Given the description of an element on the screen output the (x, y) to click on. 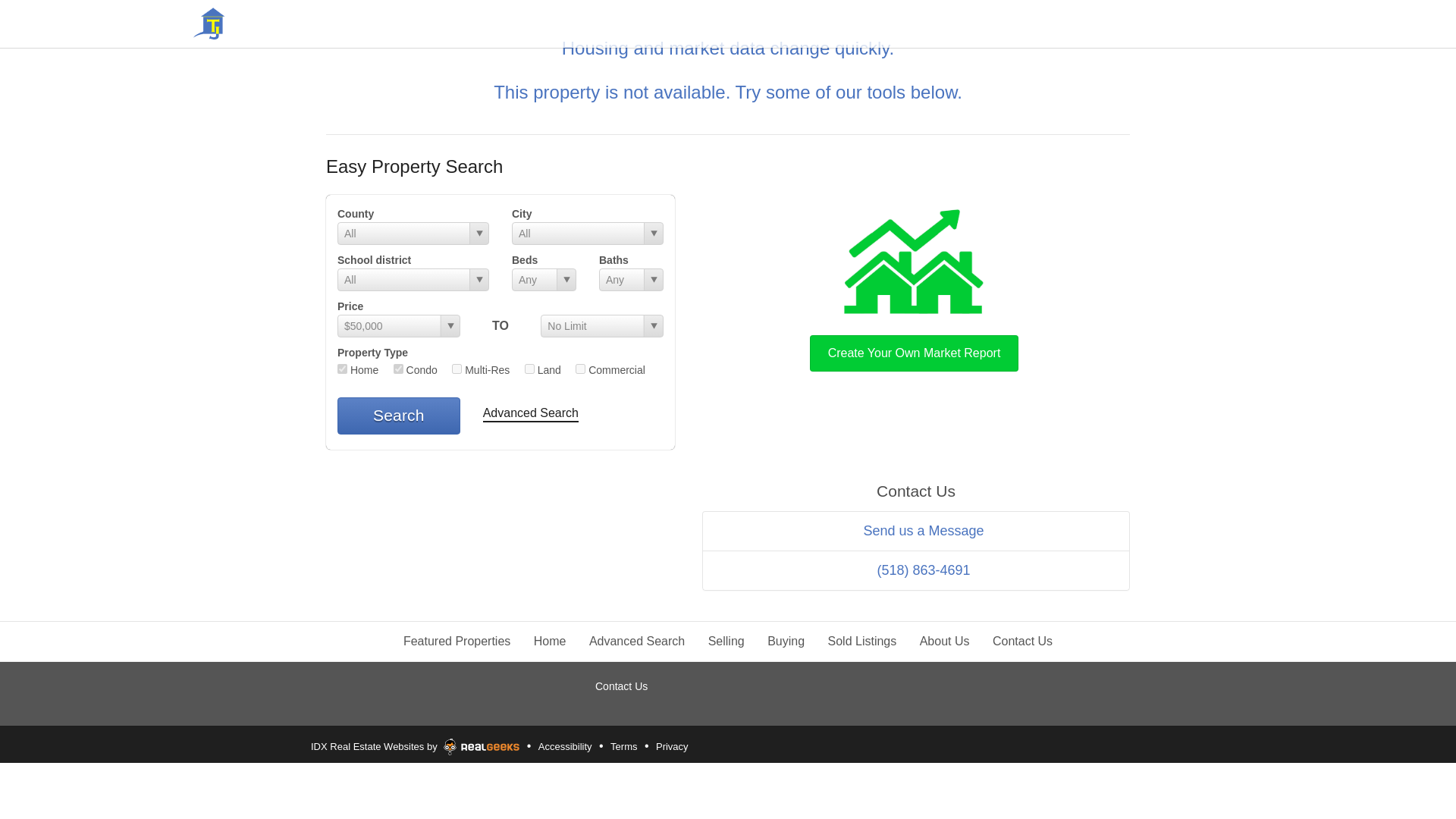
Privacy (672, 746)
Terms (623, 746)
Send us a Message (915, 530)
IDX Real Estate Websites by (414, 743)
mul (456, 368)
Contact Us (621, 686)
Buying (786, 640)
Contact Us (1022, 640)
About Us (944, 640)
Sold Listings (862, 640)
